Given the description of an element on the screen output the (x, y) to click on. 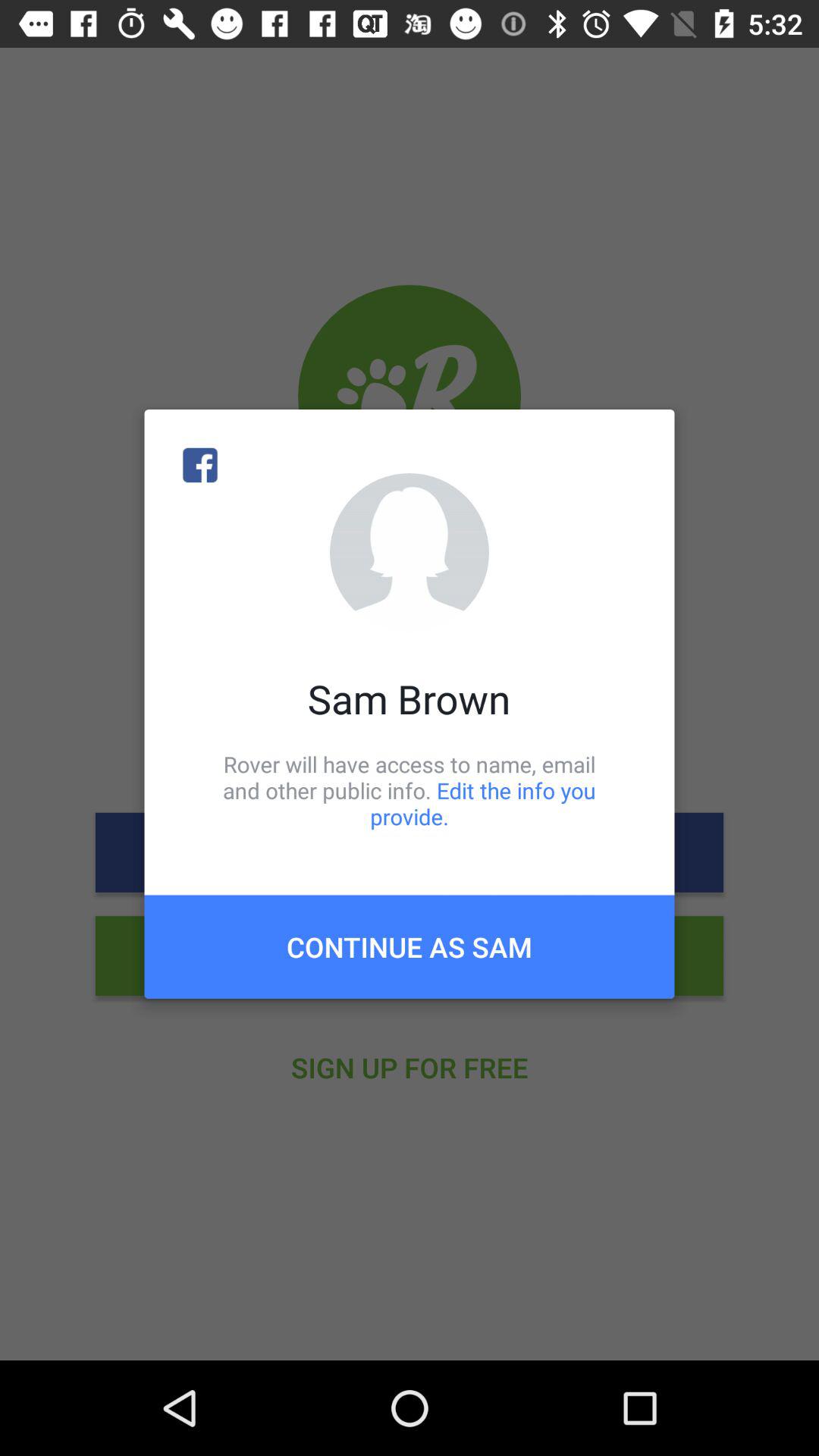
choose rover will have icon (409, 790)
